Given the description of an element on the screen output the (x, y) to click on. 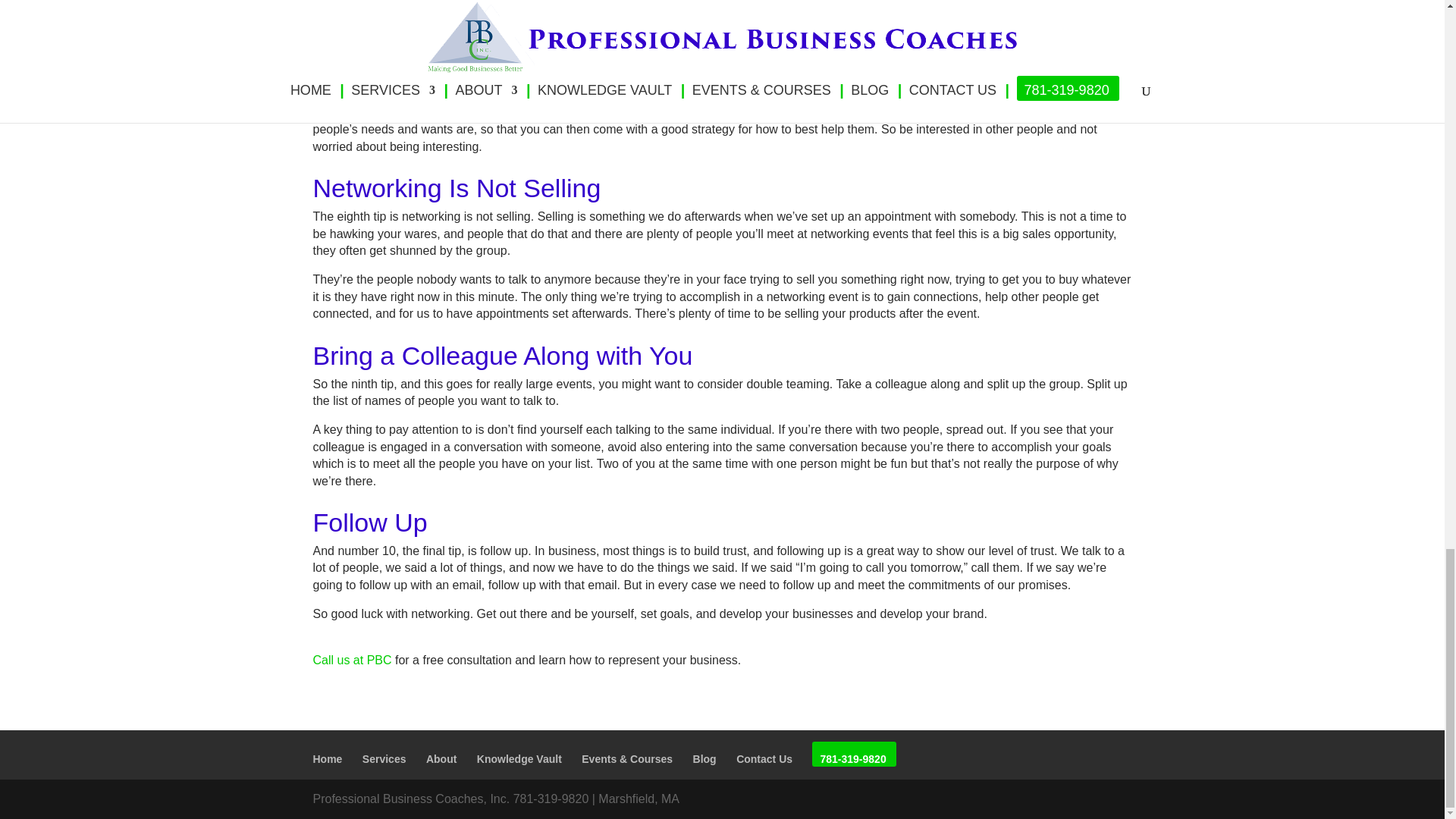
781-319-9820 (852, 758)
Knowledge Vault (519, 758)
Blog (704, 758)
Call us at PBC (352, 659)
Contact Us (764, 758)
About (441, 758)
Home (327, 758)
Services (384, 758)
